Given the description of an element on the screen output the (x, y) to click on. 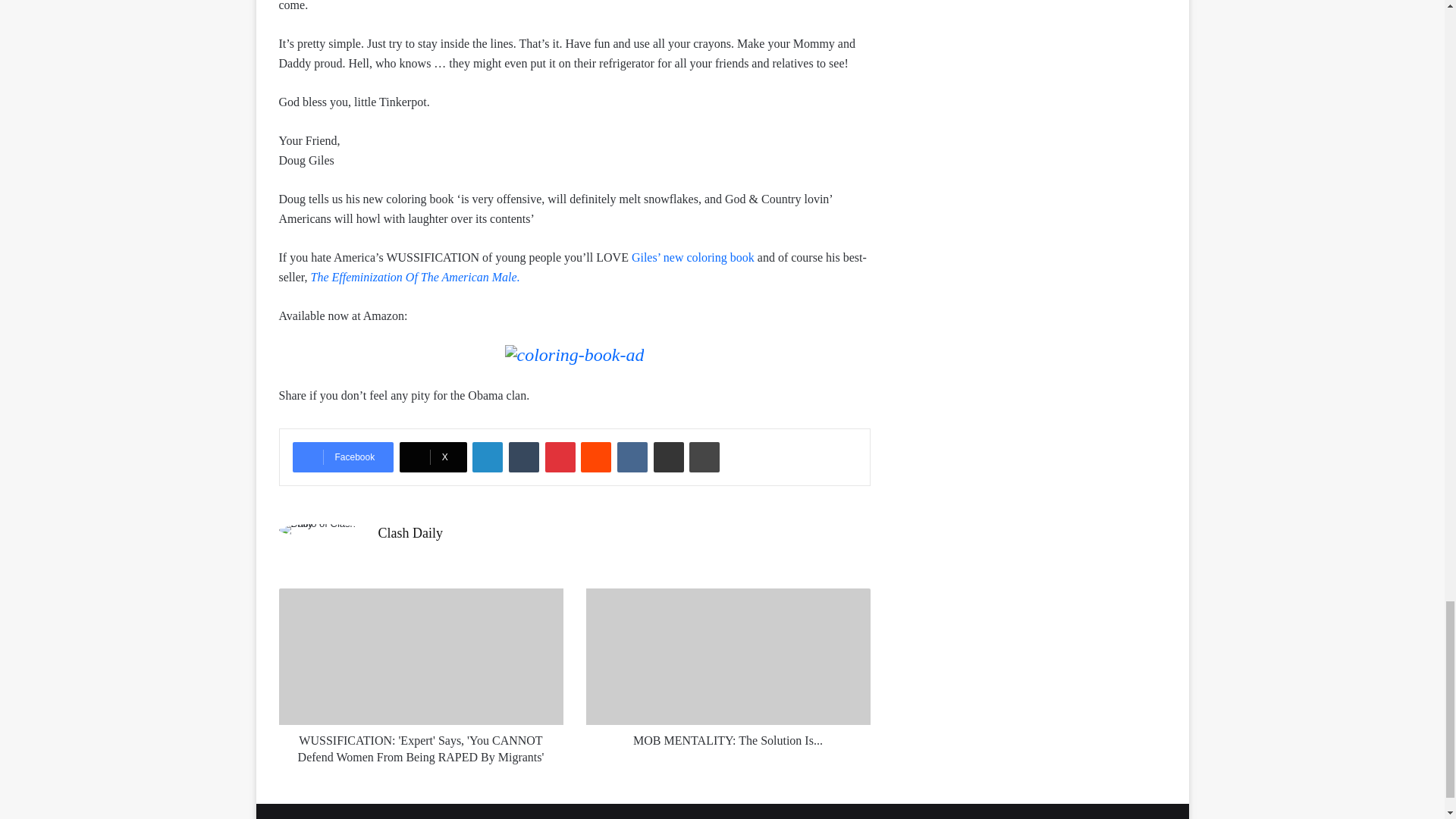
LinkedIn (486, 457)
Print (703, 457)
Pinterest (559, 457)
X (432, 457)
Reddit (595, 457)
Facebook (343, 457)
Tumblr (523, 457)
The Effeminization Of The American Male. (415, 277)
VKontakte (632, 457)
Share via Email (668, 457)
